Given the description of an element on the screen output the (x, y) to click on. 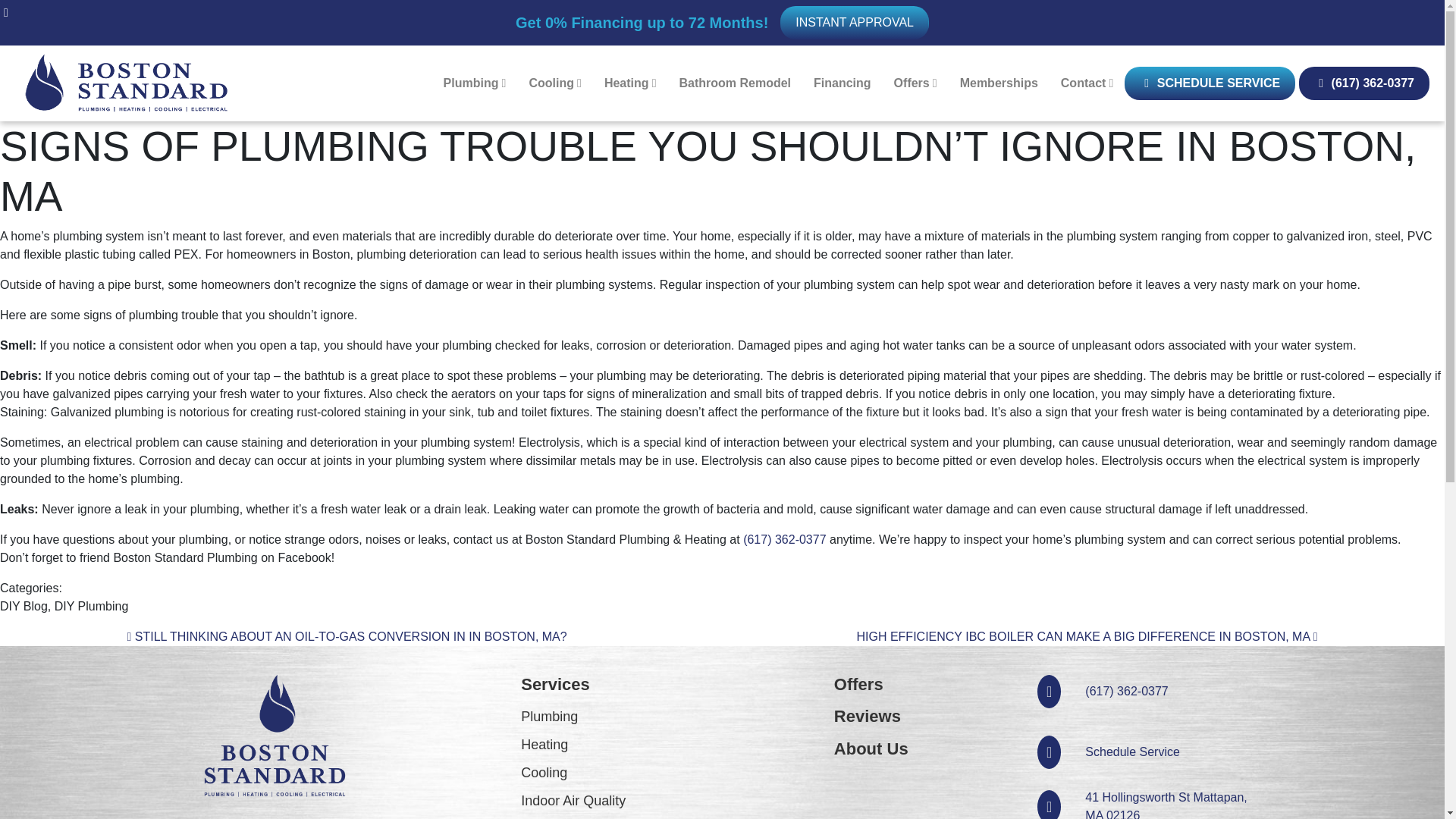
Plumbing (475, 82)
INSTANT APPROVAL (854, 22)
Cooling (554, 82)
Plumbing (475, 82)
